Given the description of an element on the screen output the (x, y) to click on. 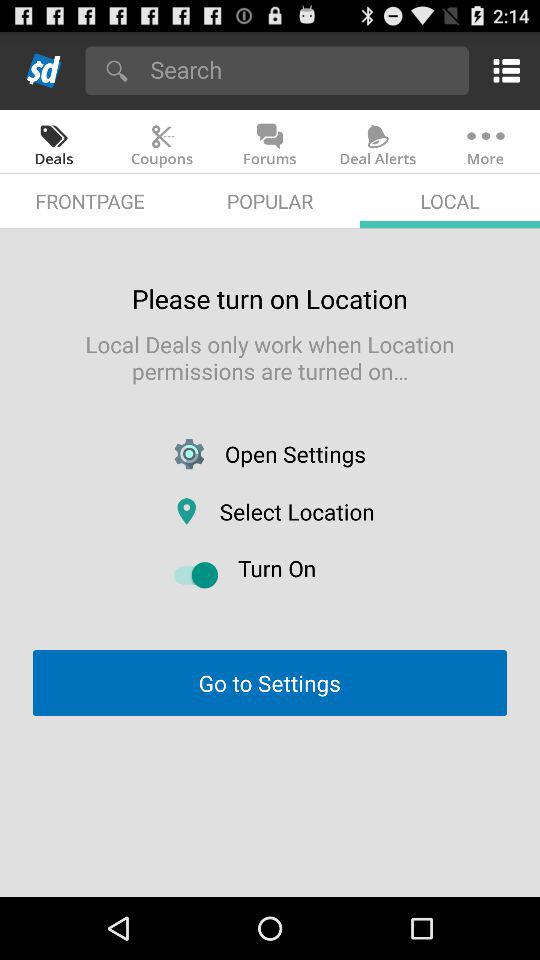
open popular item (270, 200)
